Given the description of an element on the screen output the (x, y) to click on. 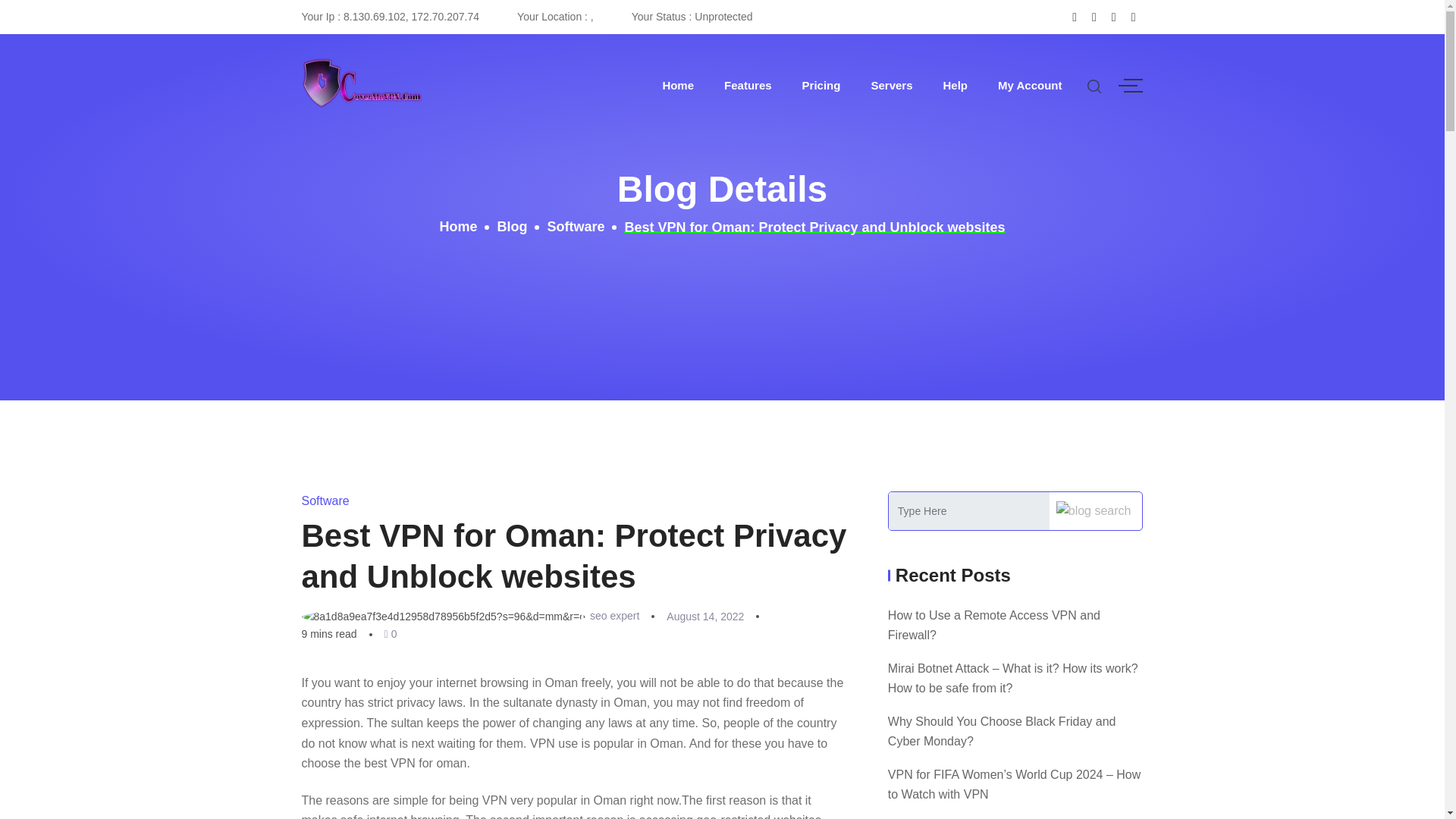
Servers (891, 85)
Features (747, 85)
Pricing (821, 85)
Home (458, 227)
Blog (511, 227)
August 14, 2022 (705, 616)
My Account (1029, 85)
seo expert (614, 615)
Software (325, 500)
Software (575, 227)
